Given the description of an element on the screen output the (x, y) to click on. 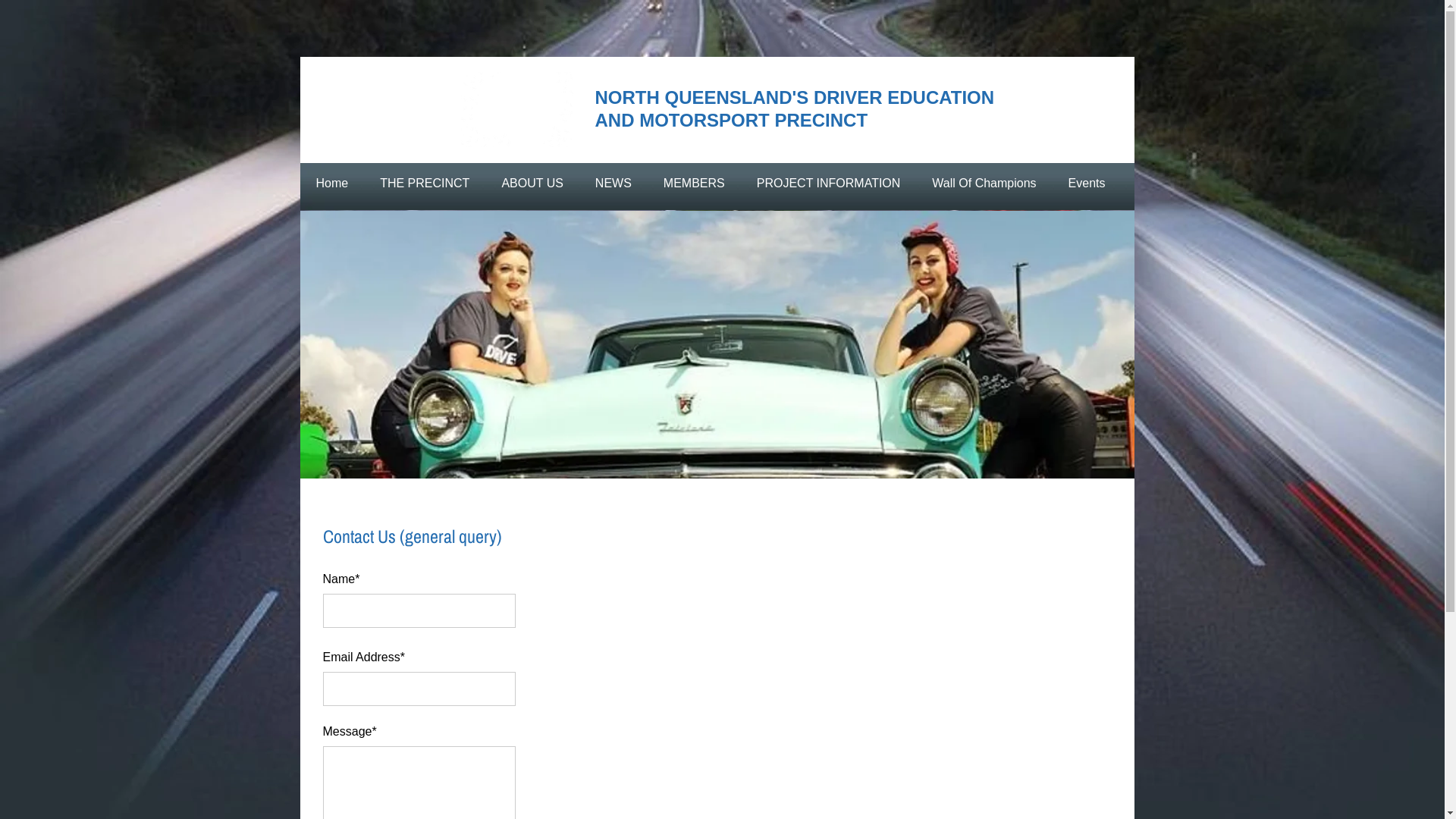
Wall Of Champions Element type: text (983, 183)
PROJECT INFORMATION Element type: text (828, 183)
NEWS Element type: text (613, 183)
THE PRECINCT Element type: text (424, 183)
MEMBERS Element type: text (693, 183)
Home Element type: text (332, 183)
Events Element type: text (1086, 183)
ABOUT US Element type: text (531, 183)
